Given the description of an element on the screen output the (x, y) to click on. 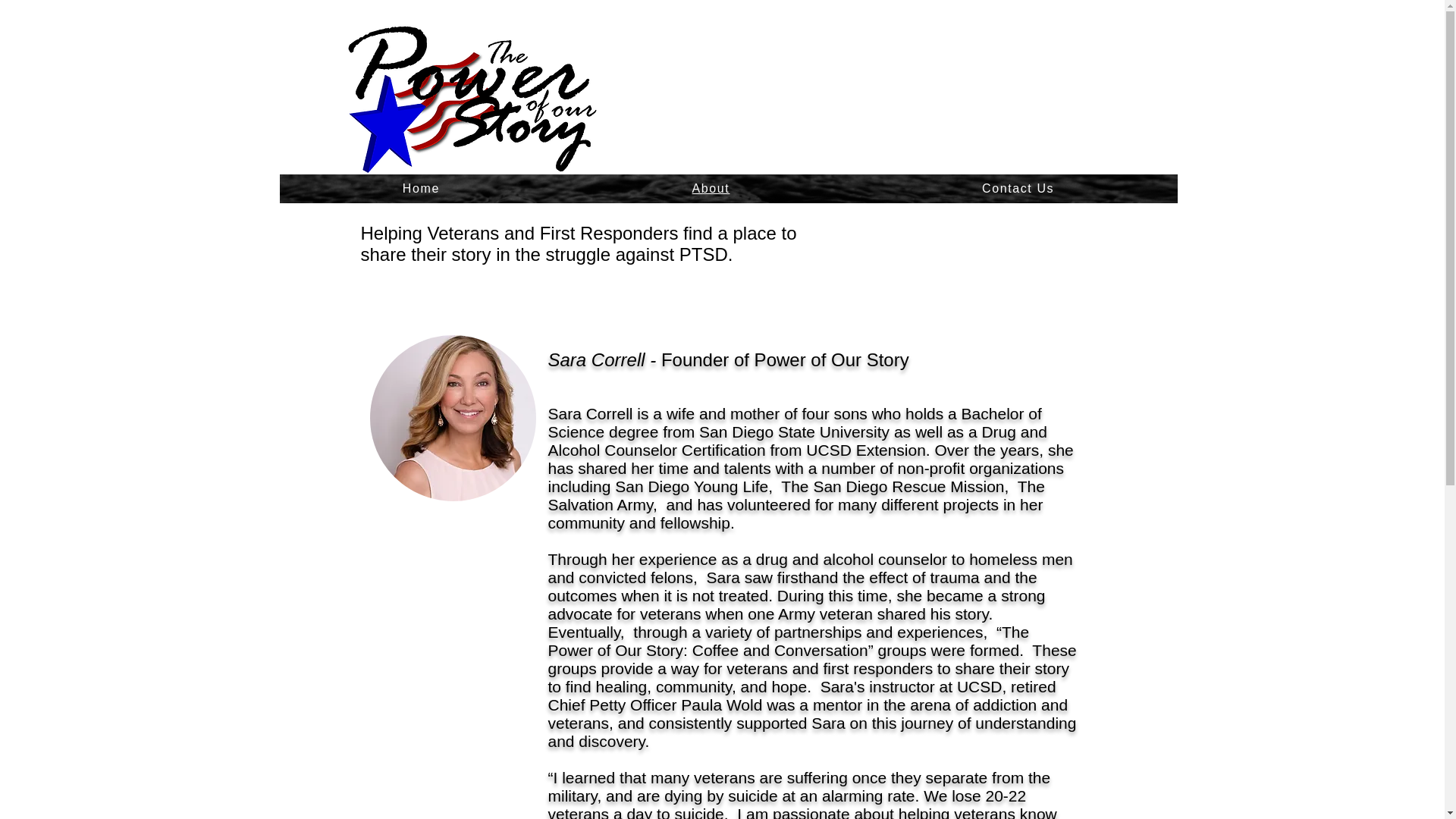
Home (420, 188)
About (710, 188)
Contact Us (1018, 188)
